Given the description of an element on the screen output the (x, y) to click on. 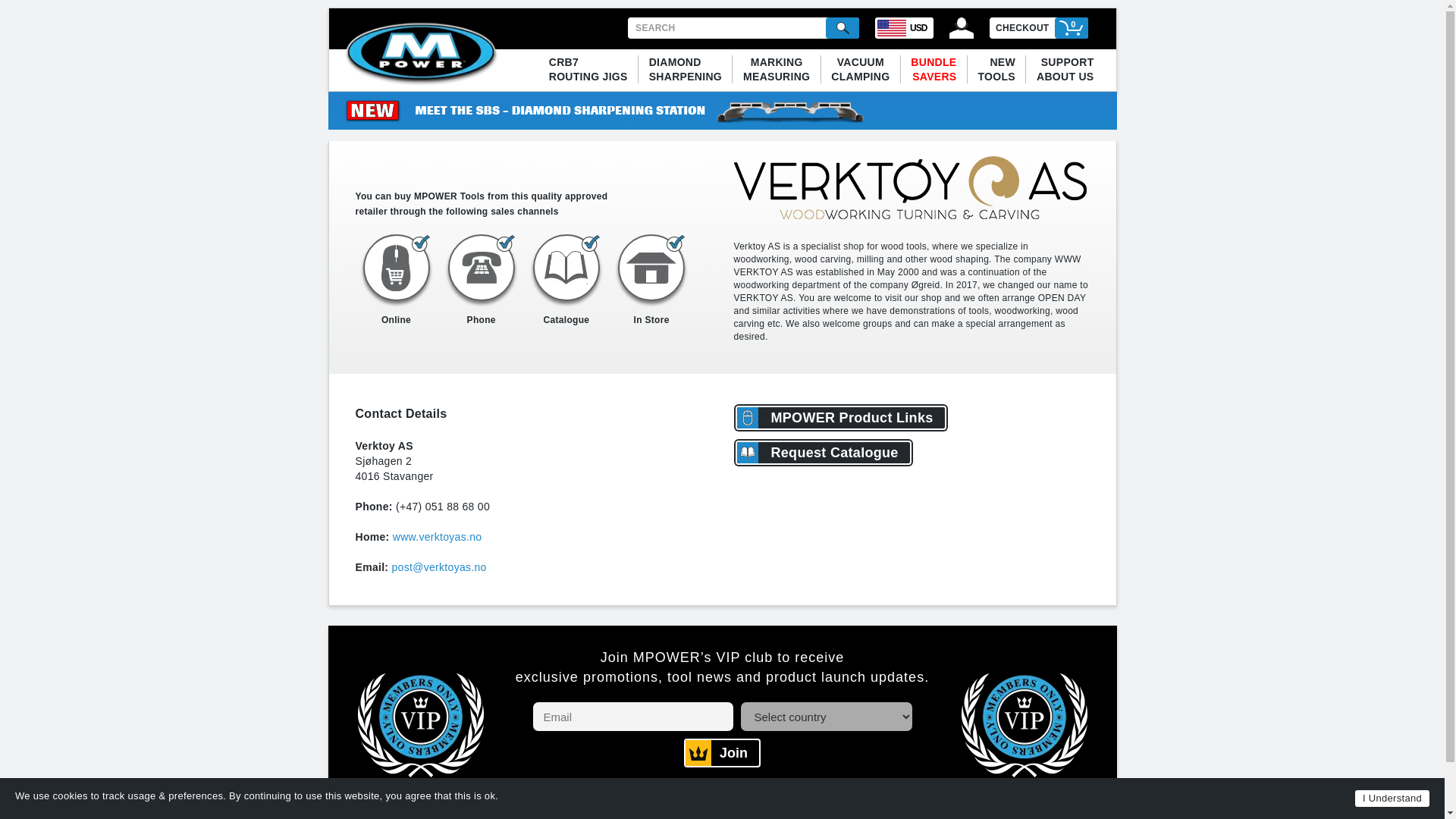
Search (776, 68)
I Understand (842, 27)
